Given the description of an element on the screen output the (x, y) to click on. 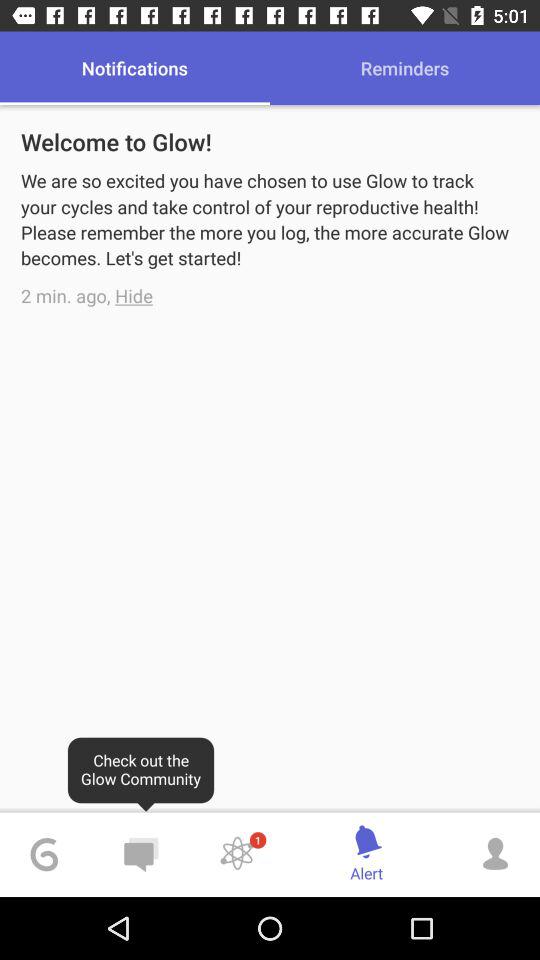
launch icon above the check out the icon (133, 295)
